Given the description of an element on the screen output the (x, y) to click on. 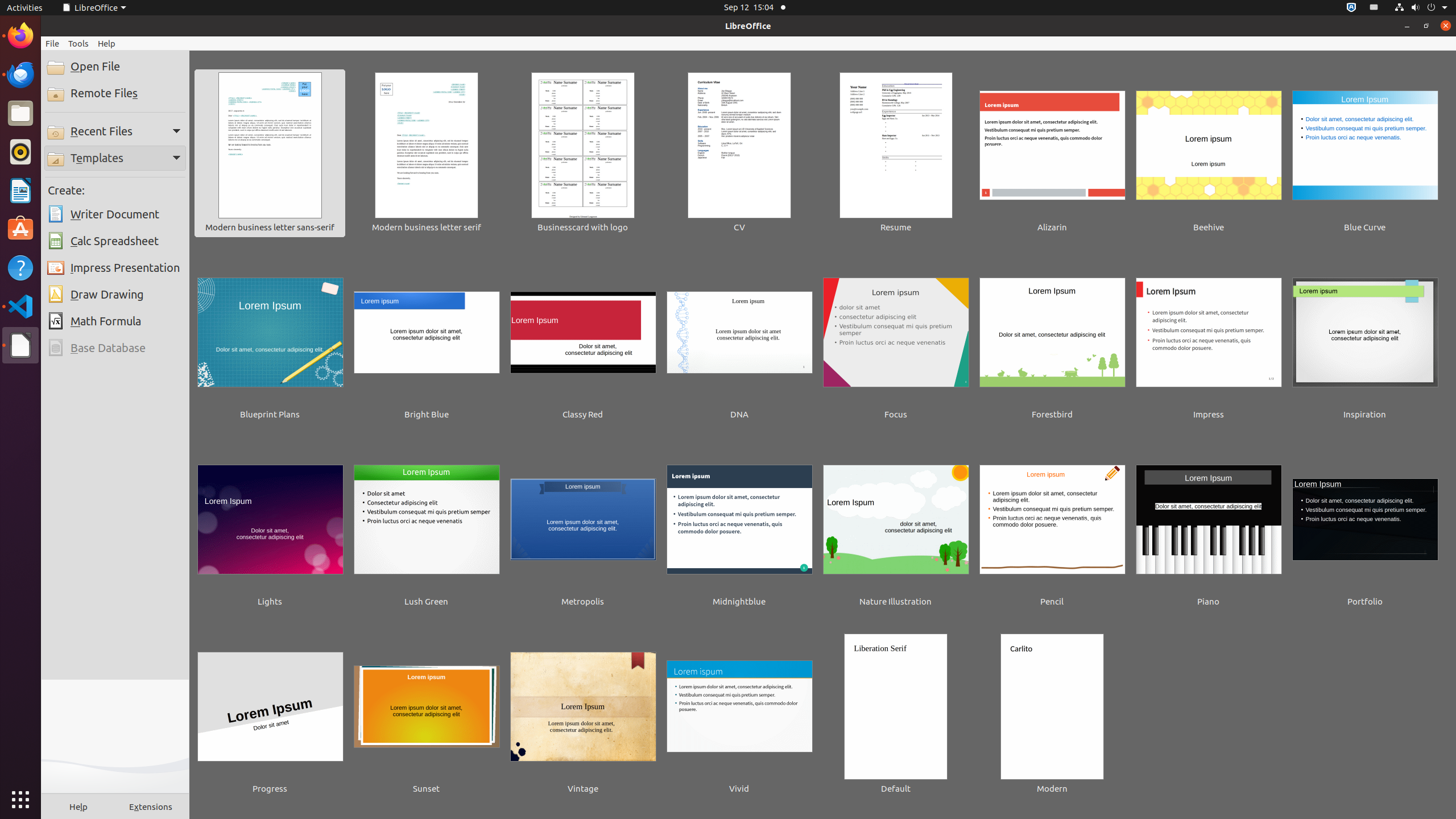
Alizarin Element type: list-item (1051, 153)
Modern business letter sans-serif Element type: list-item (269, 153)
Lights Element type: list-item (269, 527)
